Given the description of an element on the screen output the (x, y) to click on. 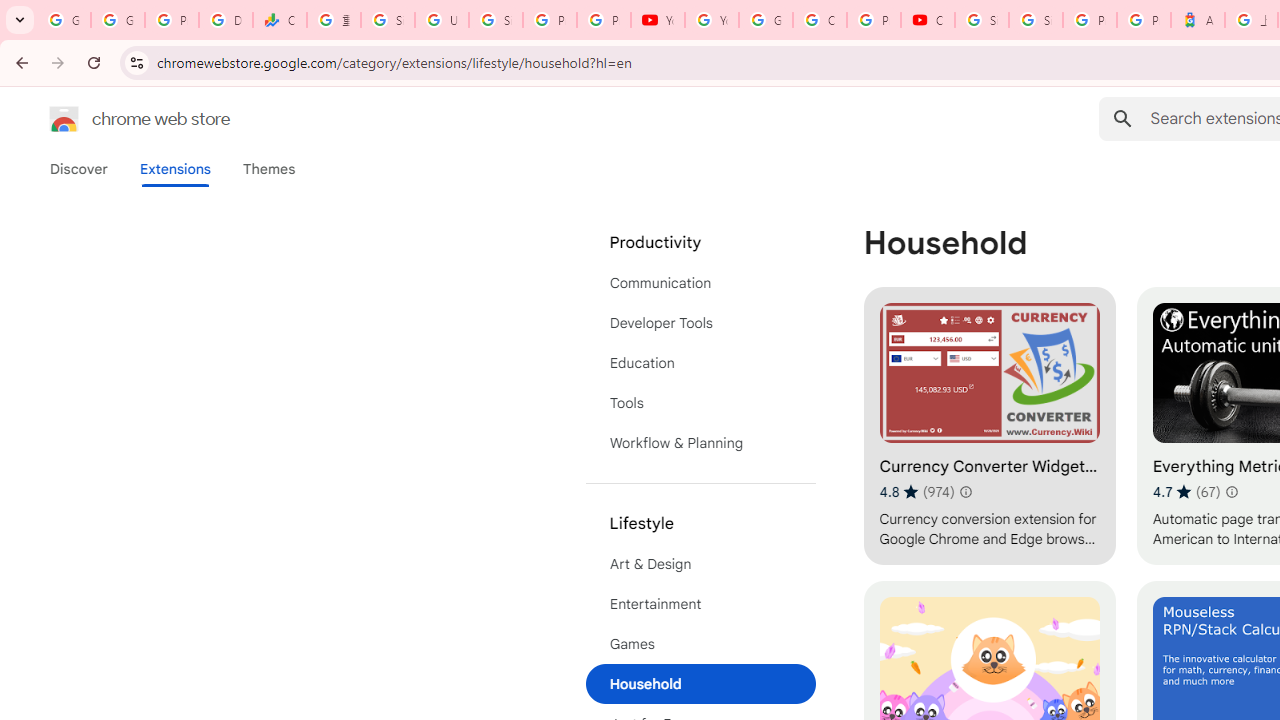
Extensions (174, 169)
YouTube (657, 20)
YouTube (711, 20)
Developer Tools (700, 322)
Average rating 4.7 out of 5 stars. 67 ratings. (1186, 491)
Create your Google Account (819, 20)
Chrome Web Store logo (63, 118)
Sign in - Google Accounts (1035, 20)
Privacy Checkup (604, 20)
